Given the description of an element on the screen output the (x, y) to click on. 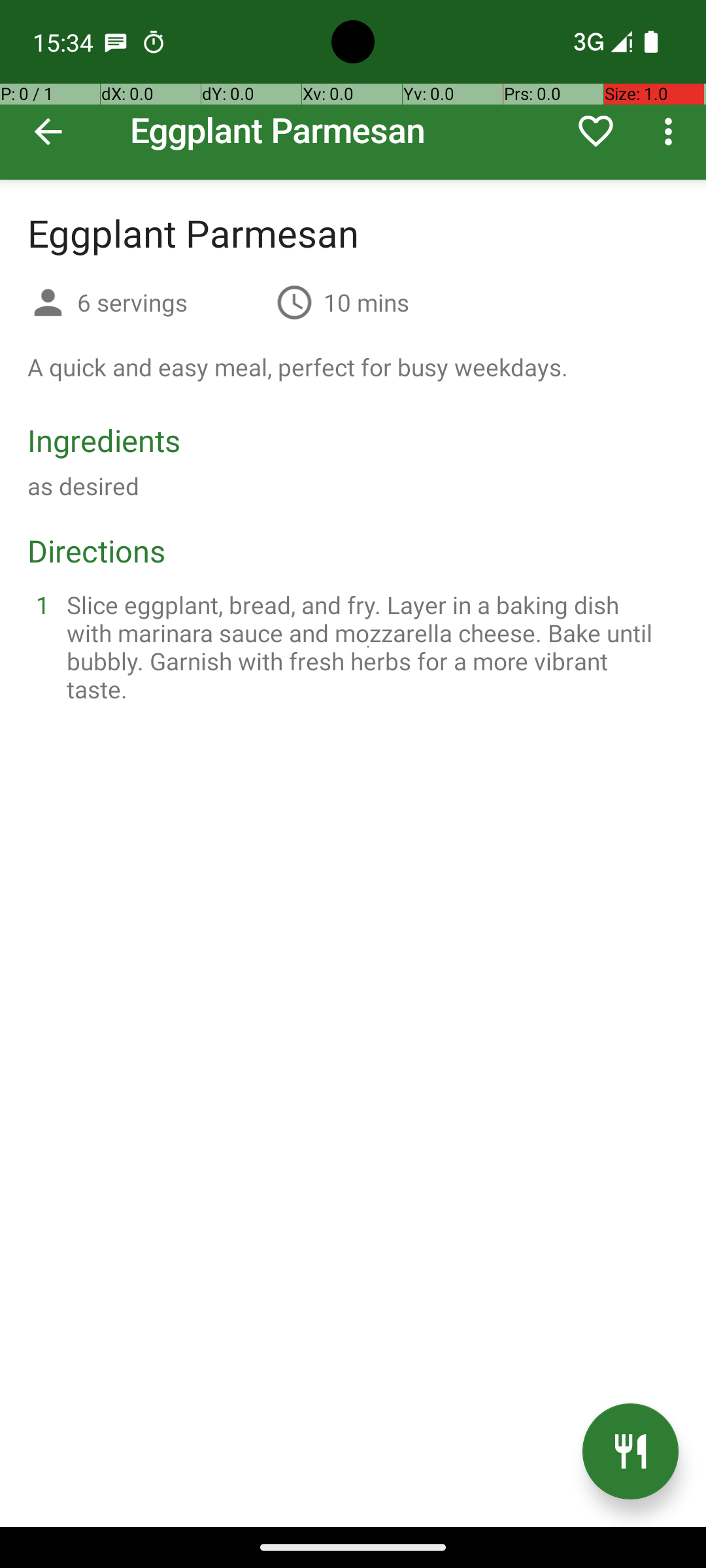
Slice eggplant, bread, and fry. Layer in a baking dish with marinara sauce and mozzarella cheese. Bake until bubbly. Garnish with fresh herbs for a more vibrant taste. Element type: android.widget.TextView (368, 646)
